Given the description of an element on the screen output the (x, y) to click on. 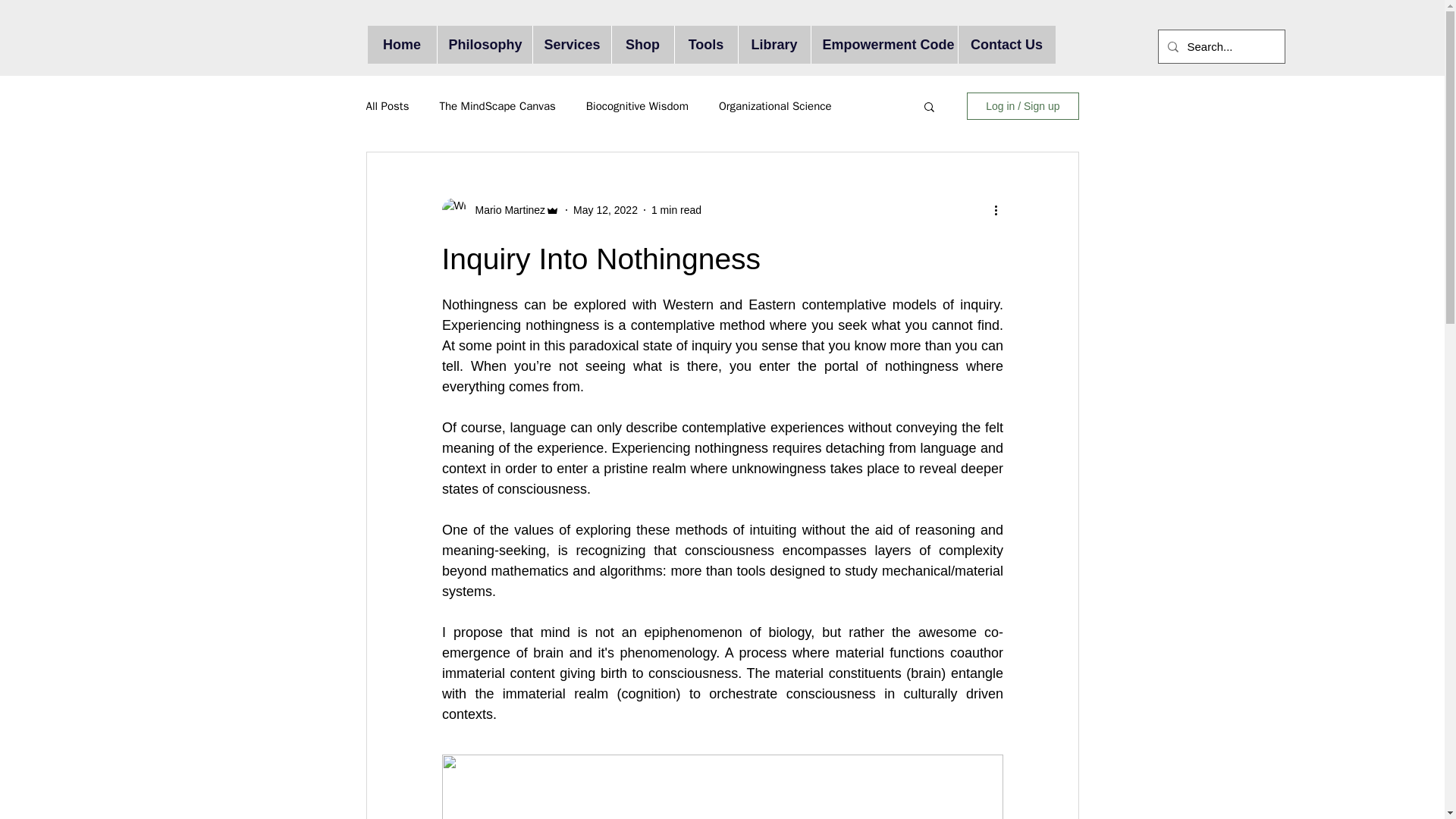
Tools (704, 44)
Services (571, 44)
Library (772, 44)
Shop (642, 44)
Home (400, 44)
All Posts (387, 105)
Contact Us (1005, 44)
Biocognitive Wisdom (637, 105)
May 12, 2022 (605, 209)
1 min read (675, 209)
Mario Martinez (504, 209)
Organizational Science (775, 105)
Empowerment Code (882, 44)
The MindScape Canvas (496, 105)
Mario Martinez (500, 209)
